Given the description of an element on the screen output the (x, y) to click on. 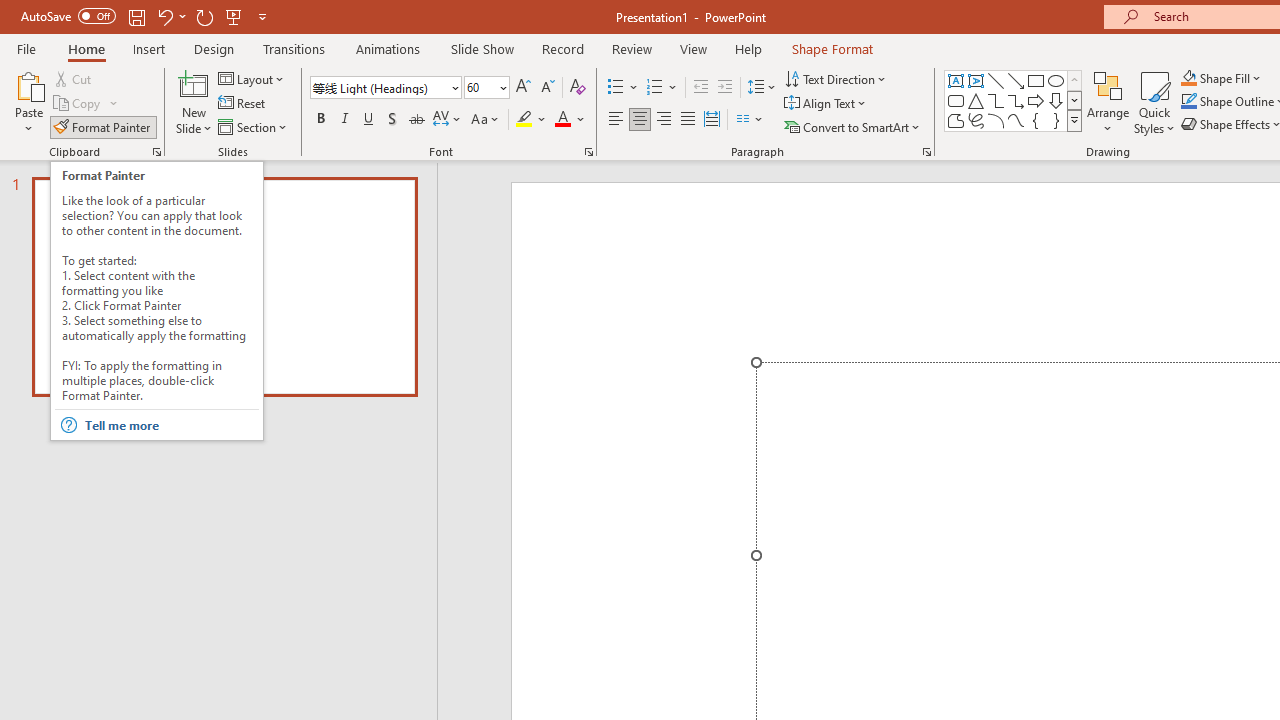
Arrow: Right (1035, 100)
Copy (85, 103)
Columns (750, 119)
Arrow: Down (1055, 100)
Increase Indent (725, 87)
Character Spacing (447, 119)
Arrange (1108, 102)
Paste (28, 102)
Shape Format (832, 48)
Vertical Text Box (975, 80)
Distributed (712, 119)
Numbering (661, 87)
Paragraph... (926, 151)
